Given the description of an element on the screen output the (x, y) to click on. 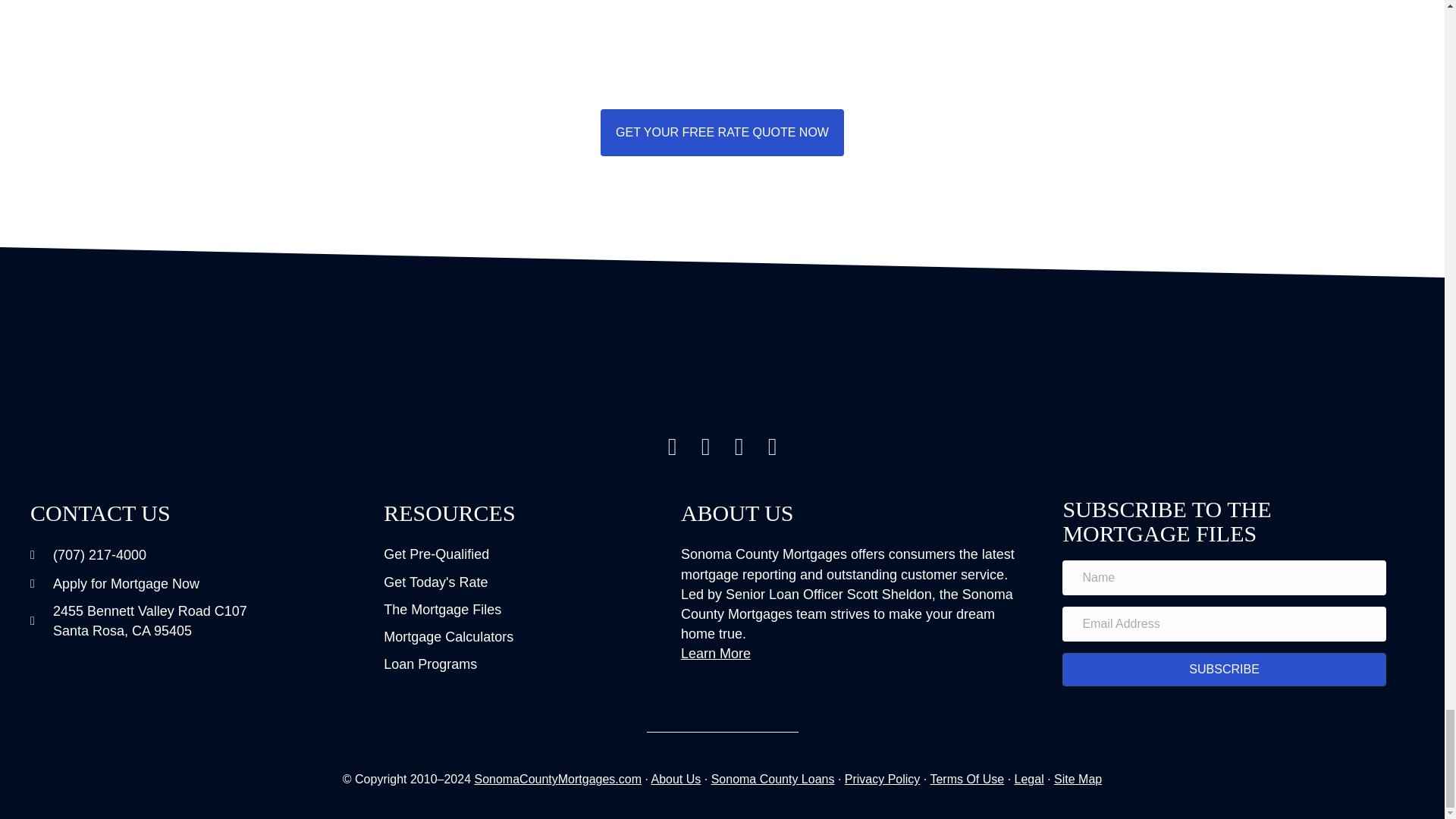
Instagram (672, 446)
Sonoma County Mortgages Scott Sheldon Senior Loan Officer (721, 373)
Facebook (706, 446)
Google Plus (739, 446)
